Given the description of an element on the screen output the (x, y) to click on. 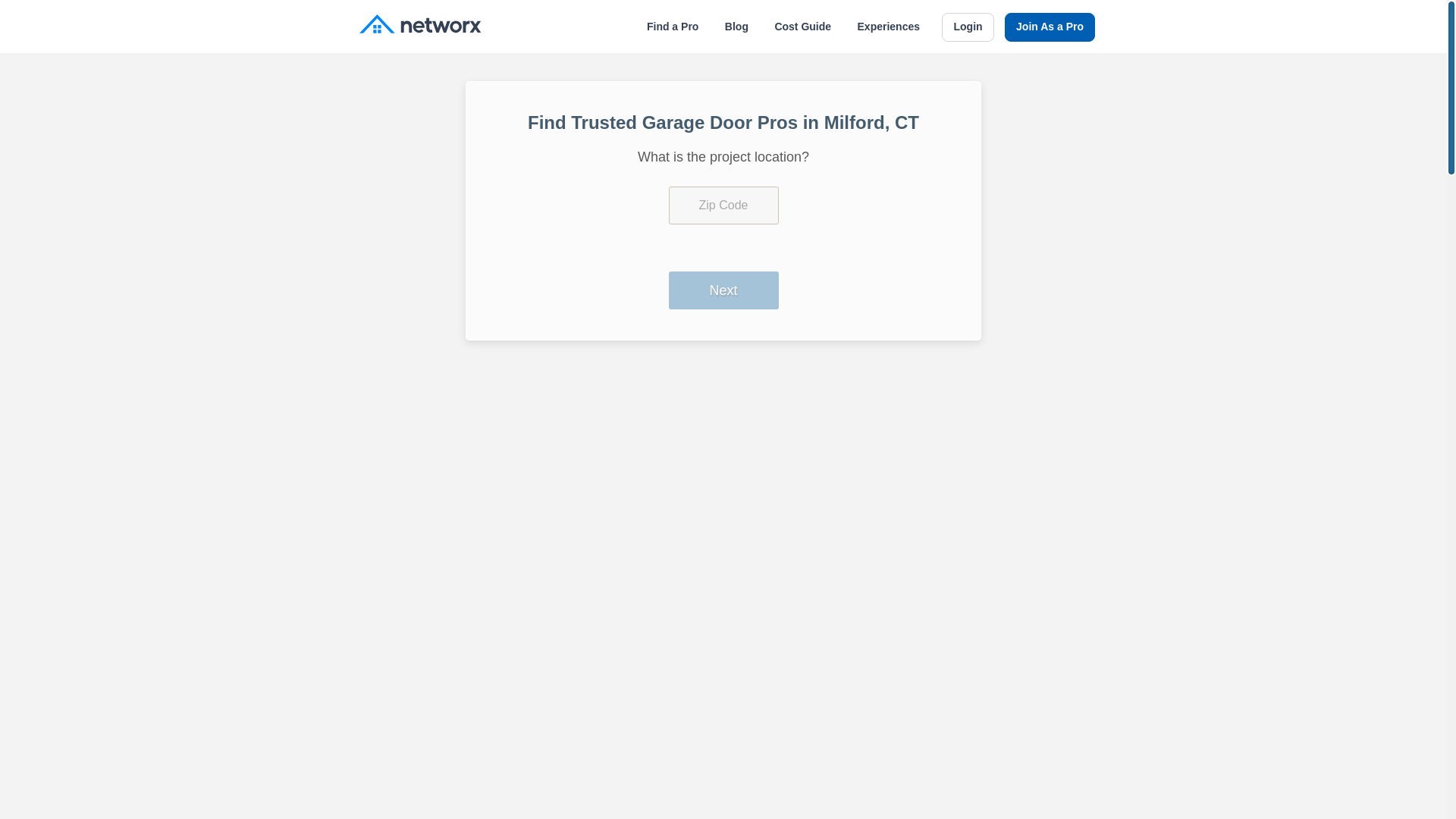
Networx (419, 25)
Experiences (888, 26)
Find a Pro (672, 26)
Login (967, 27)
Next (723, 290)
Cost Guide (802, 26)
Join As a Pro (1049, 27)
Please enter a valid zip code (723, 205)
